Given the description of an element on the screen output the (x, y) to click on. 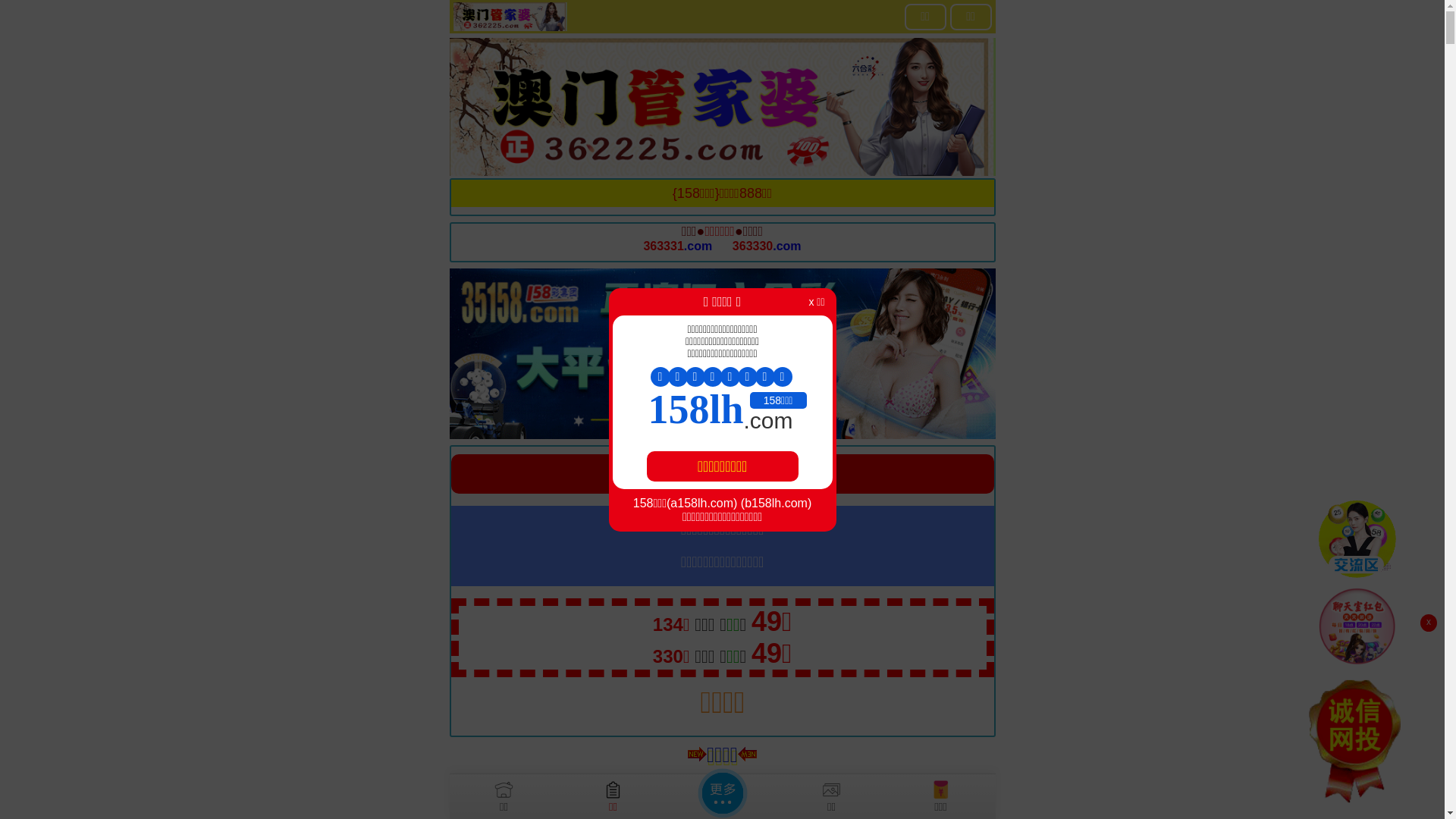
x Element type: text (1428, 622)
